Given the description of an element on the screen output the (x, y) to click on. 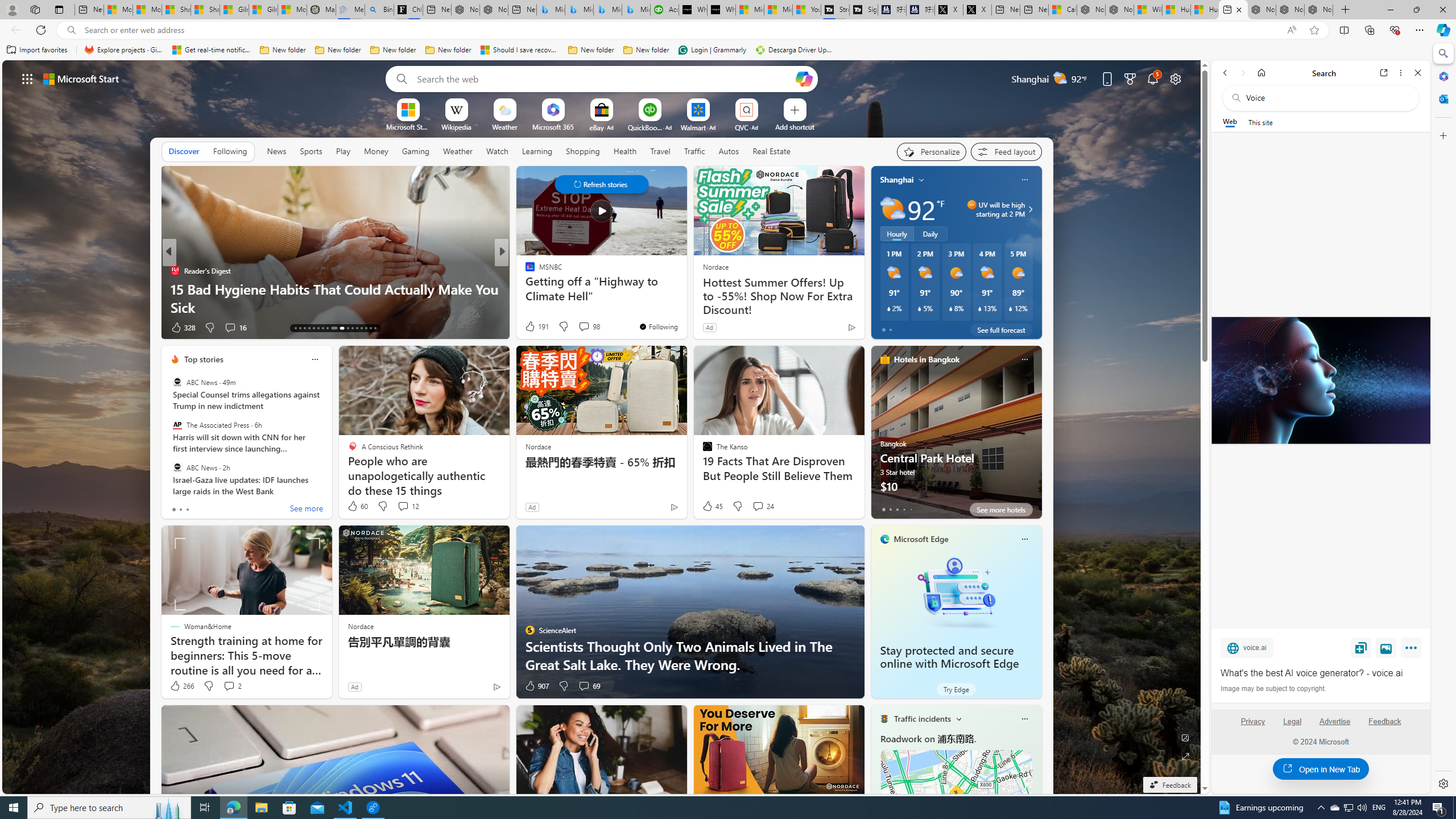
Class: icon-img (1024, 718)
View comments 24 Comment (757, 505)
